Given the description of an element on the screen output the (x, y) to click on. 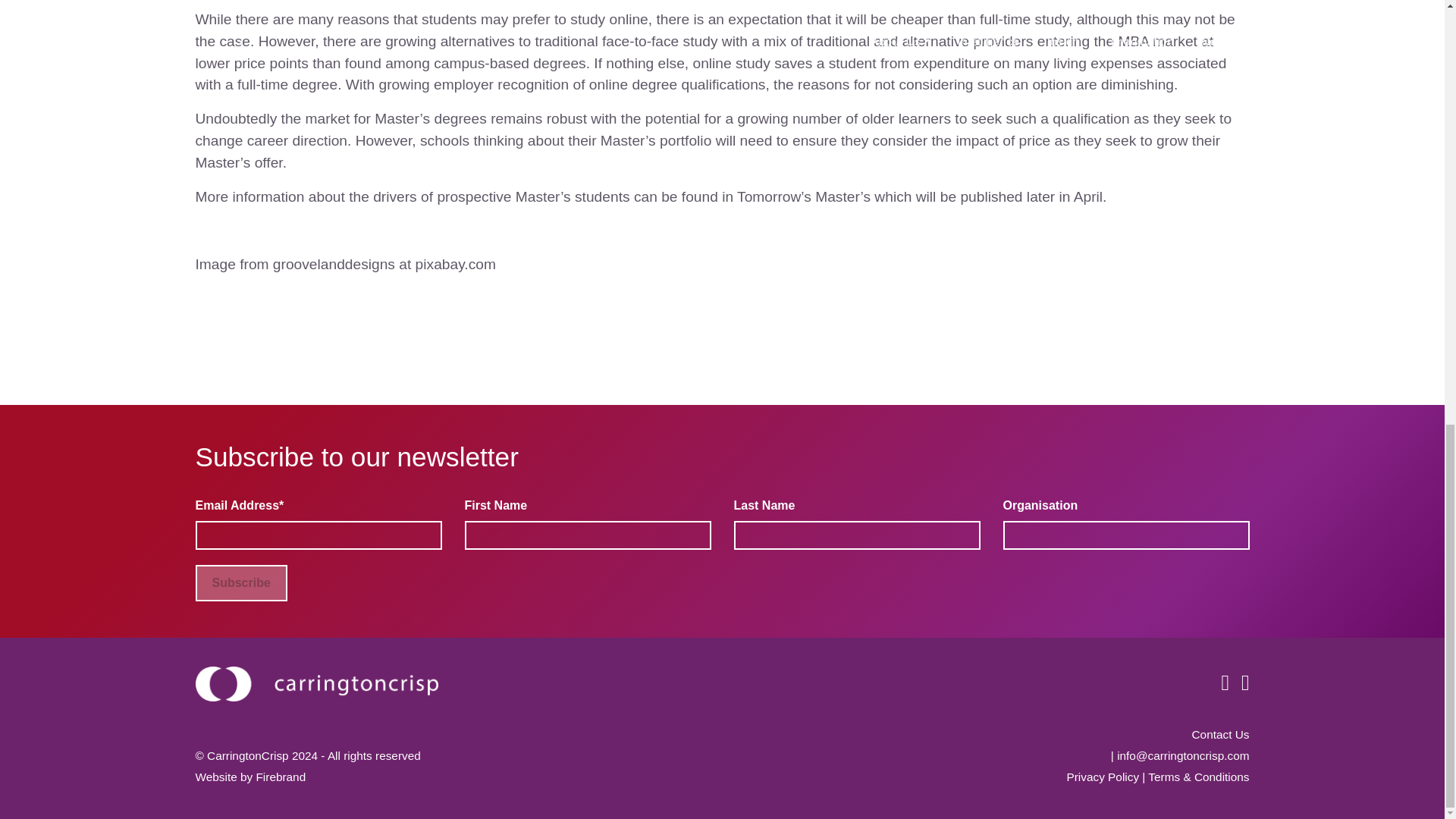
Subscribe (240, 583)
Privacy Policy (1101, 776)
Contact Us (1220, 734)
Subscribe (240, 583)
Firebrand (280, 776)
